Given the description of an element on the screen output the (x, y) to click on. 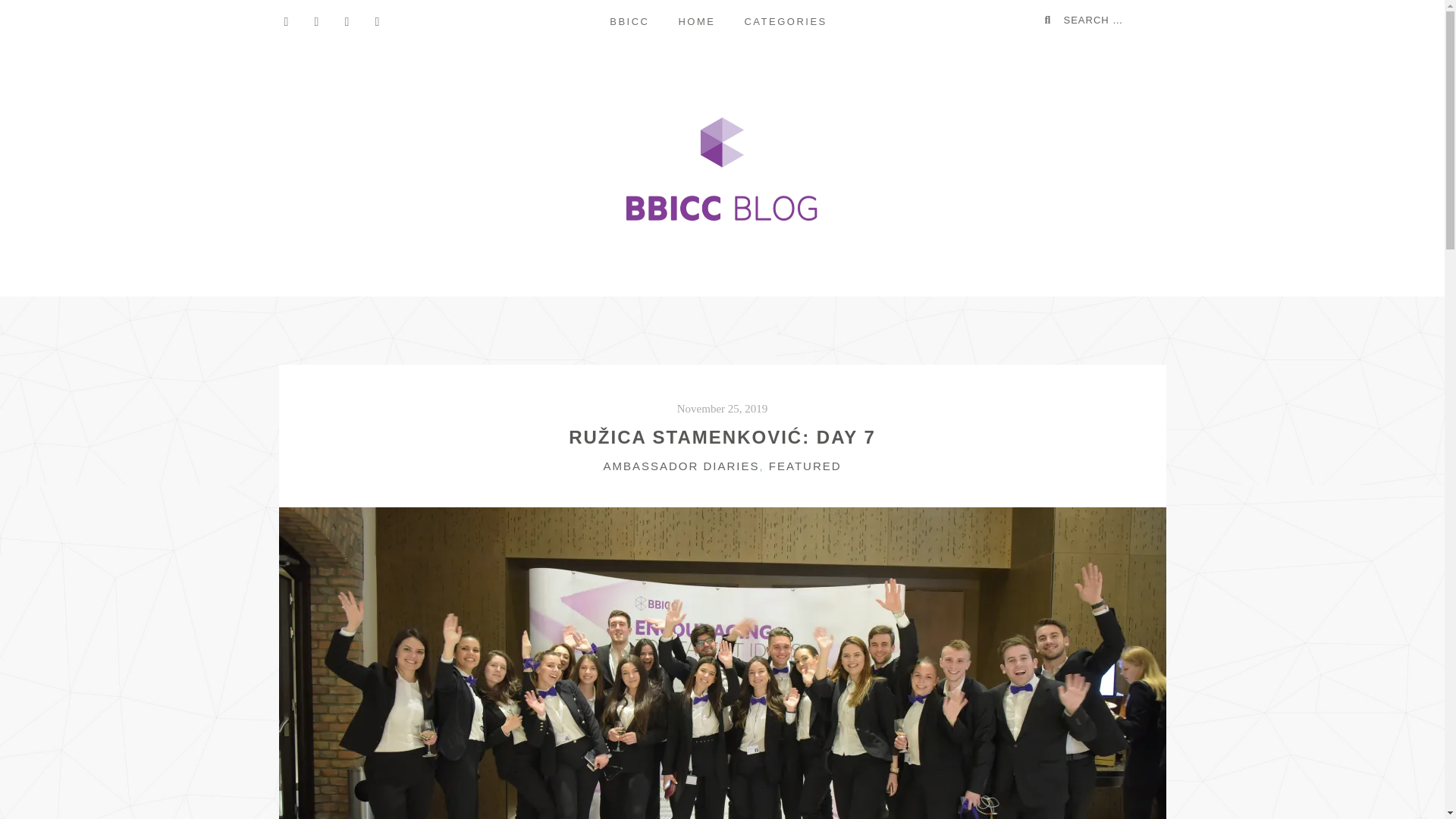
Instagram (377, 21)
LinkedIn (347, 21)
BBICC (629, 21)
Facebook (286, 21)
AMBASSADOR DIARIES (680, 465)
FEATURED (804, 465)
November 25, 2019 (722, 408)
HOME (696, 21)
CATEGORIES (785, 21)
Twitter (316, 21)
